Given the description of an element on the screen output the (x, y) to click on. 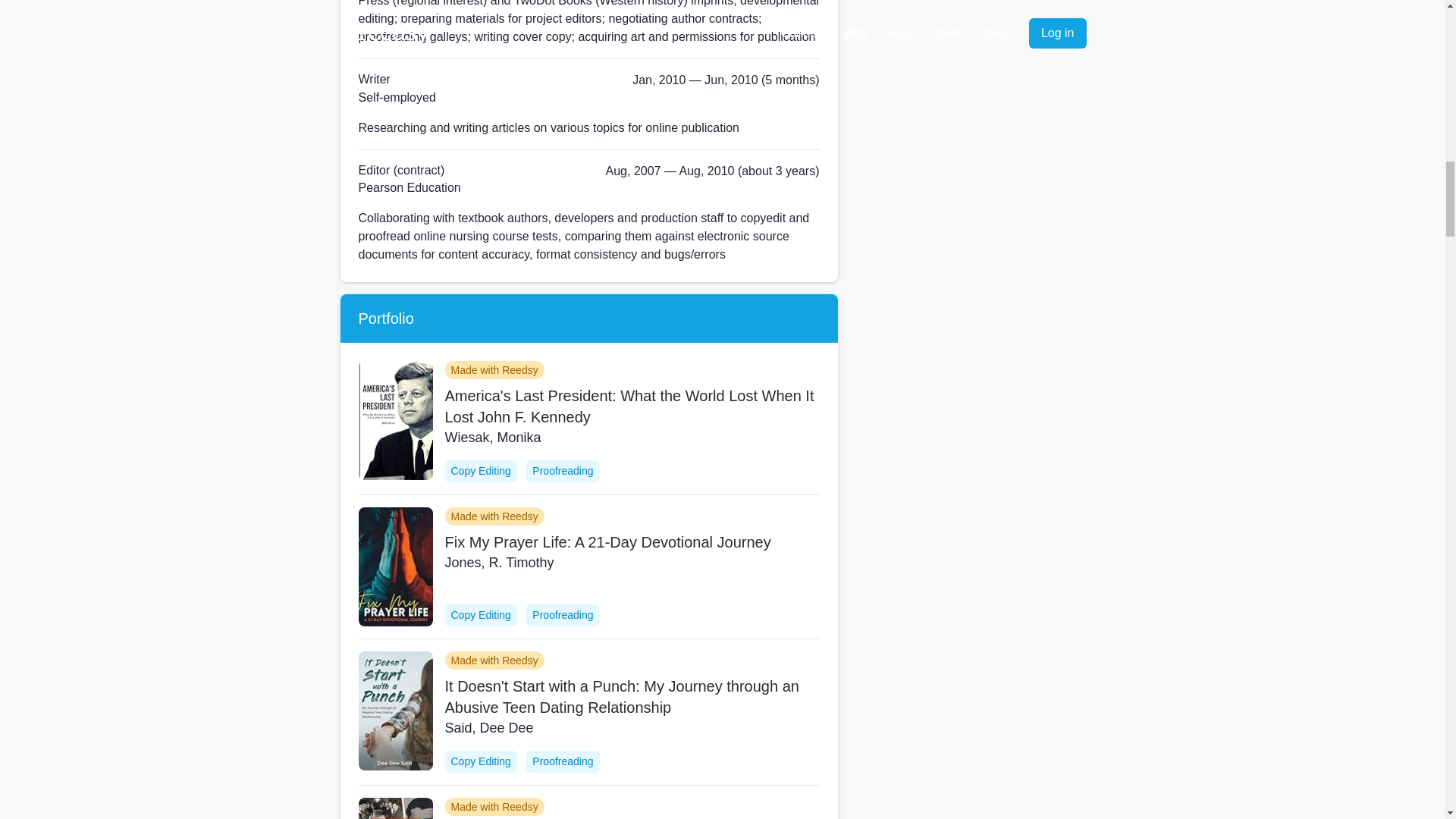
Fix My Prayer Life: A 21-Day Devotional Journey (631, 541)
